Given the description of an element on the screen output the (x, y) to click on. 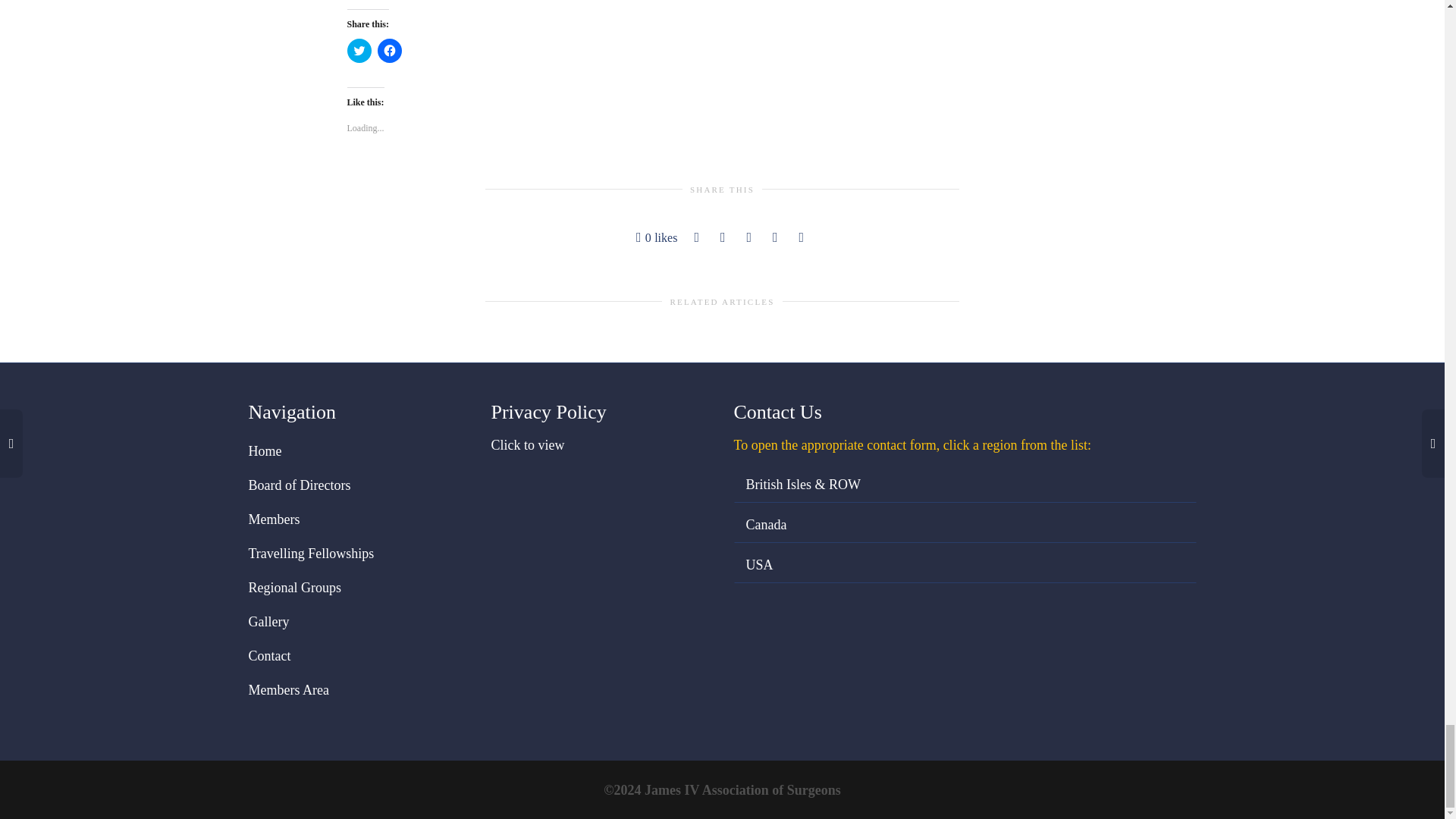
Like this (656, 237)
Click to share on Facebook (389, 50)
Click to share on Twitter (359, 50)
